Given the description of an element on the screen output the (x, y) to click on. 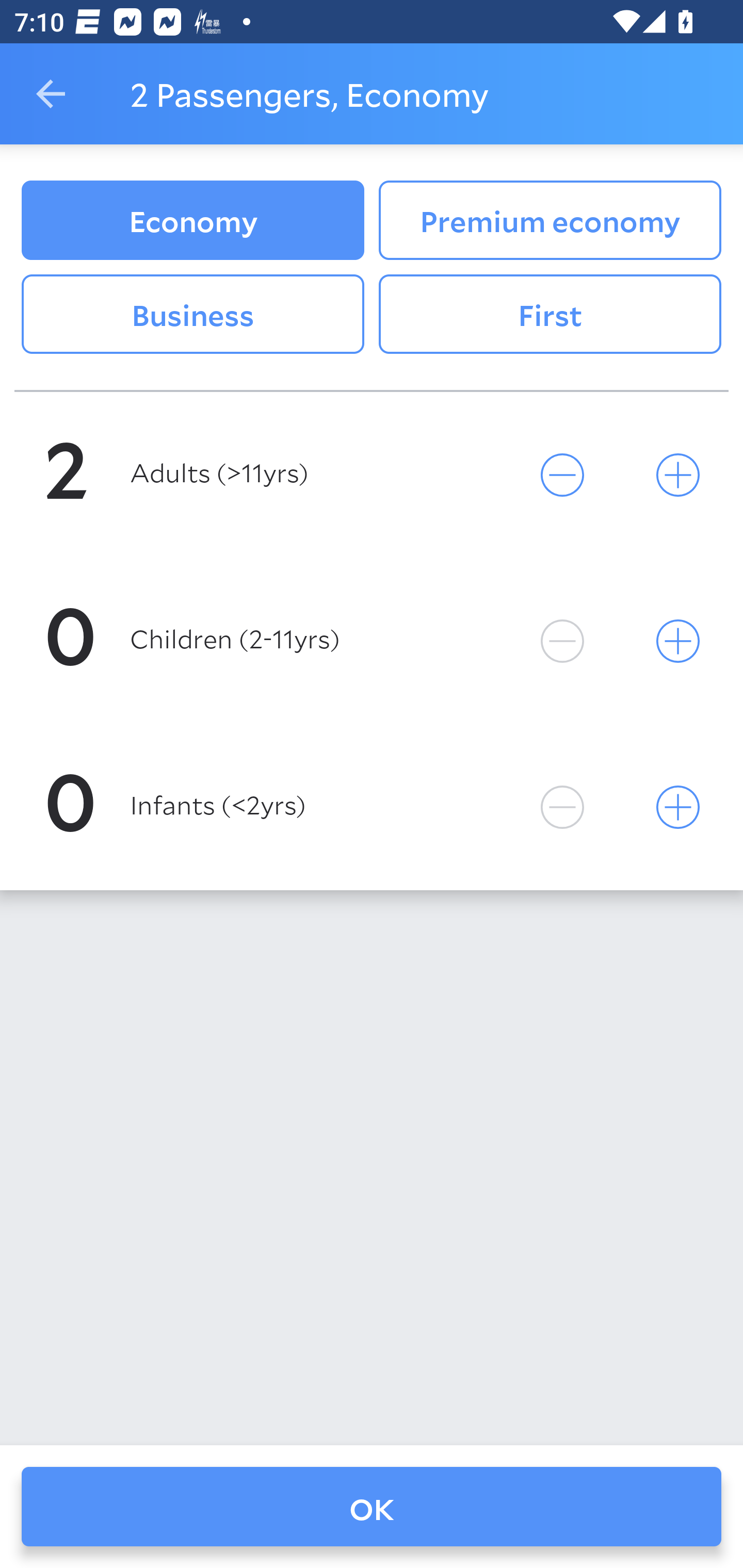
Navigate up (50, 93)
Economy (192, 220)
Premium economy (549, 220)
Business (192, 314)
First (549, 314)
OK (371, 1506)
